Given the description of an element on the screen output the (x, y) to click on. 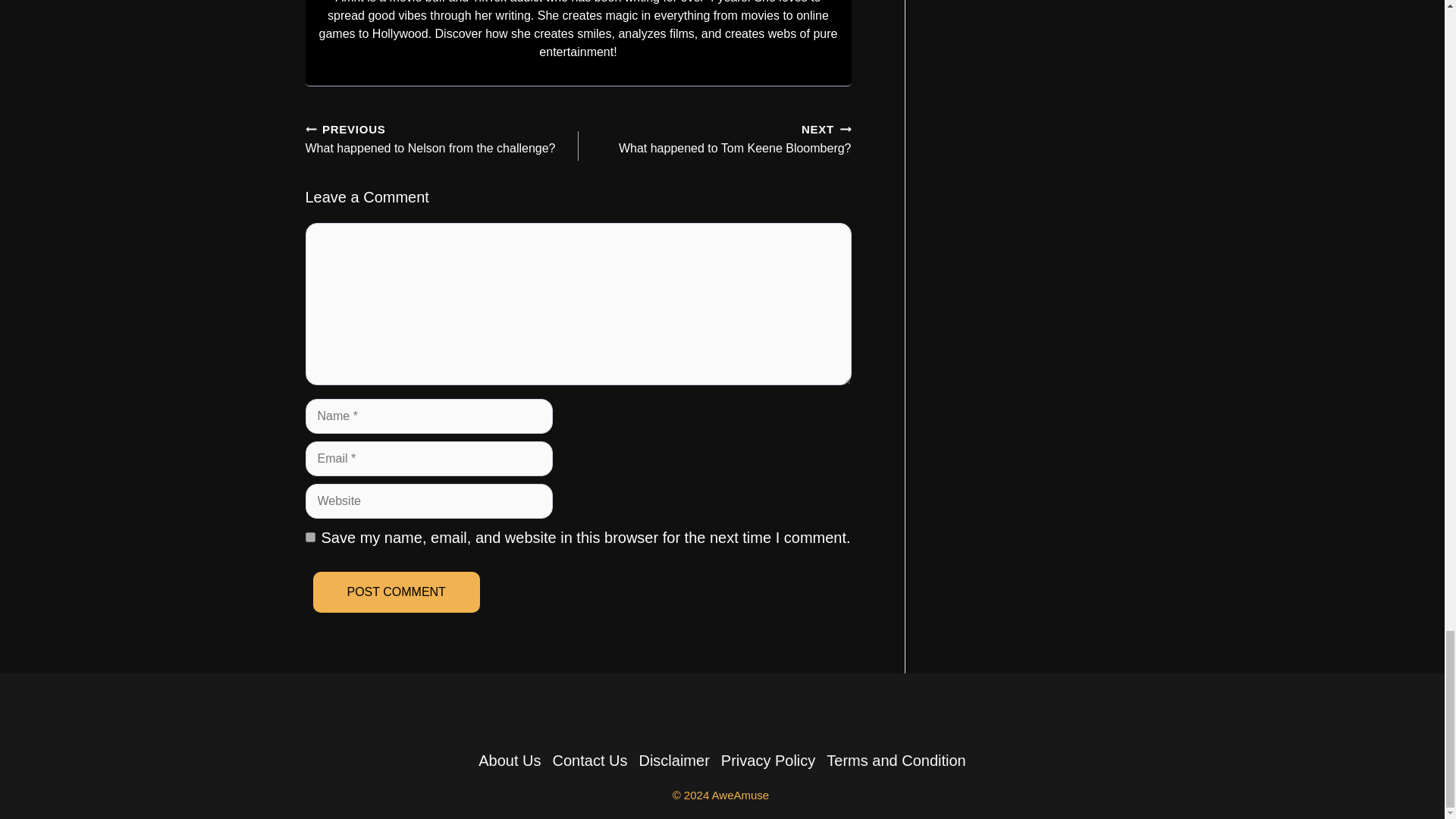
Post Comment (396, 591)
Disclaimer (674, 760)
Contact Us (590, 760)
CONTINUE (845, 129)
yes (309, 537)
About Us (719, 137)
Post Comment (509, 760)
PREVIOUS (396, 591)
